Given the description of an element on the screen output the (x, y) to click on. 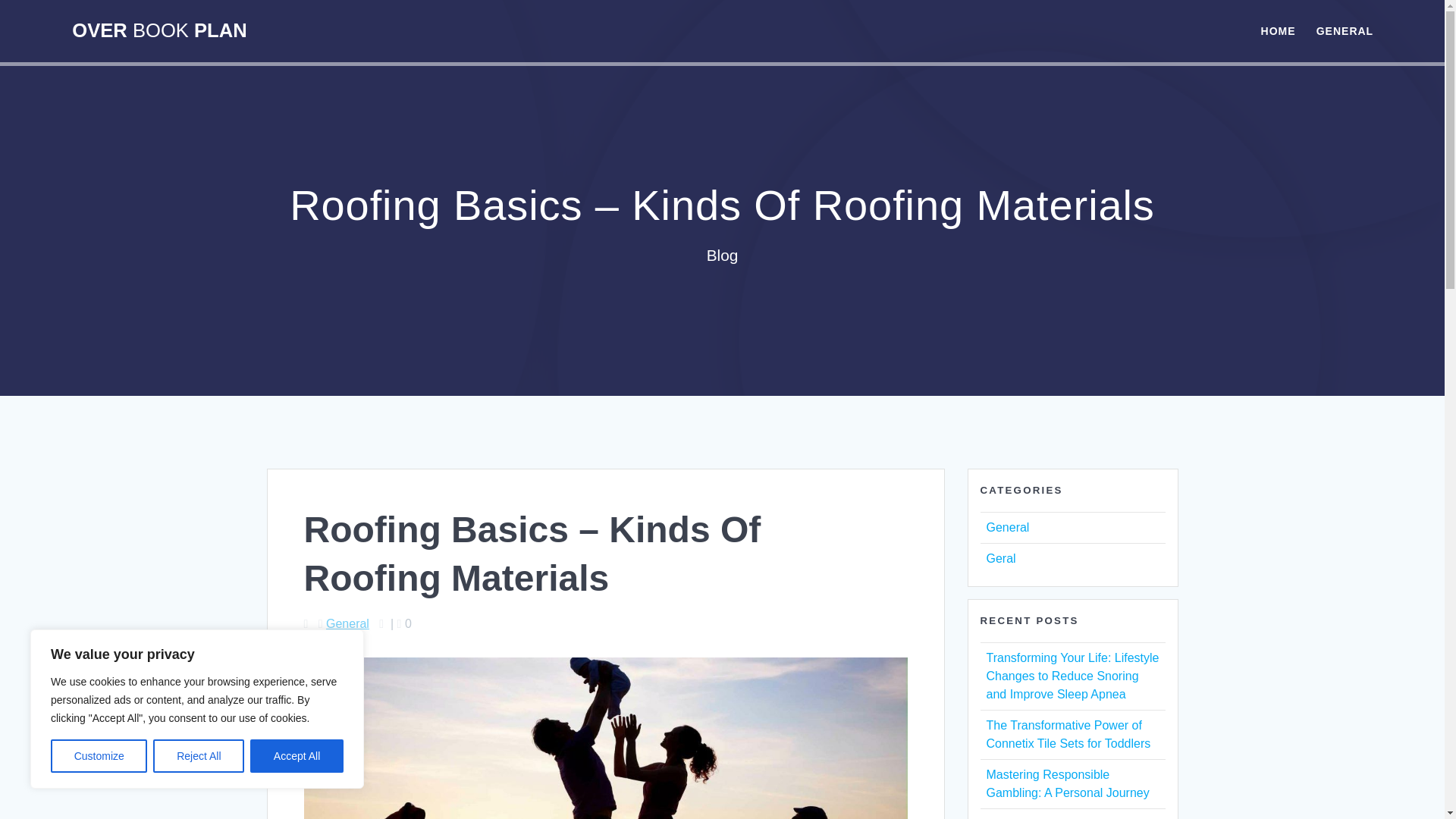
HOME (1277, 30)
OVER BOOK PLAN (158, 30)
Customize (98, 756)
General (1007, 526)
Geral (999, 558)
Unlocking Confidence: The Truth About Hair Loss Treatments (1058, 818)
Accept All (296, 756)
General (347, 623)
The Transformative Power of Connetix Tile Sets for Toddlers (1067, 734)
GENERAL (1344, 30)
Reject All (198, 756)
Mastering Responsible Gambling: A Personal Journey (1066, 783)
